Given the description of an element on the screen output the (x, y) to click on. 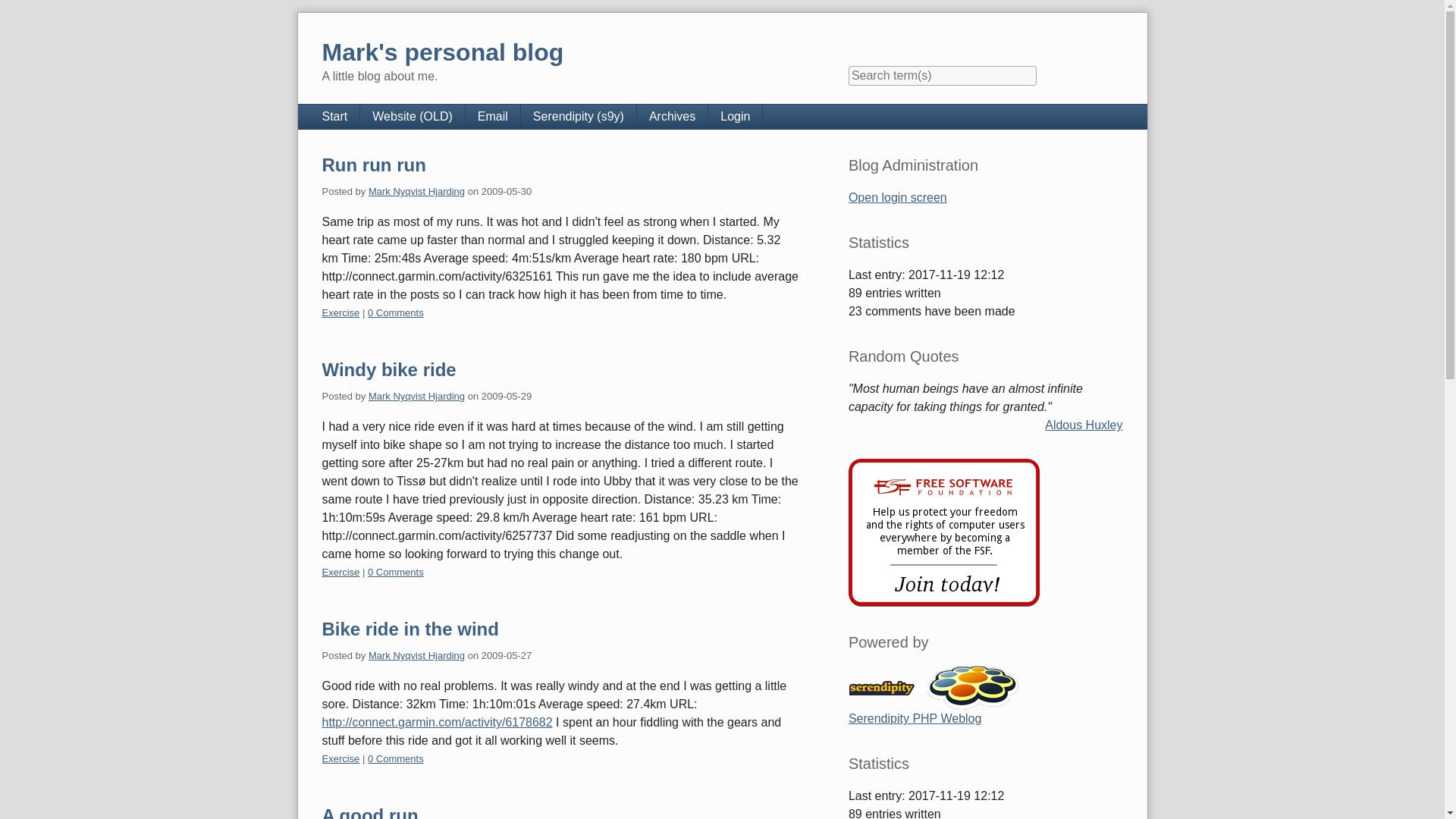
Exercise (340, 572)
Aldous Huxley (1083, 424)
Help protect your freedom, join the Free Software Foundation (943, 532)
Start (333, 116)
Mark Nyqvist Hjarding (416, 655)
Open login screen (897, 196)
Mark Nyqvist Hjarding (416, 191)
0 Comments, 0 Trackbacks (395, 312)
Mark Nyqvist Hjarding (416, 396)
Powered by Serendipity (886, 686)
